Given the description of an element on the screen output the (x, y) to click on. 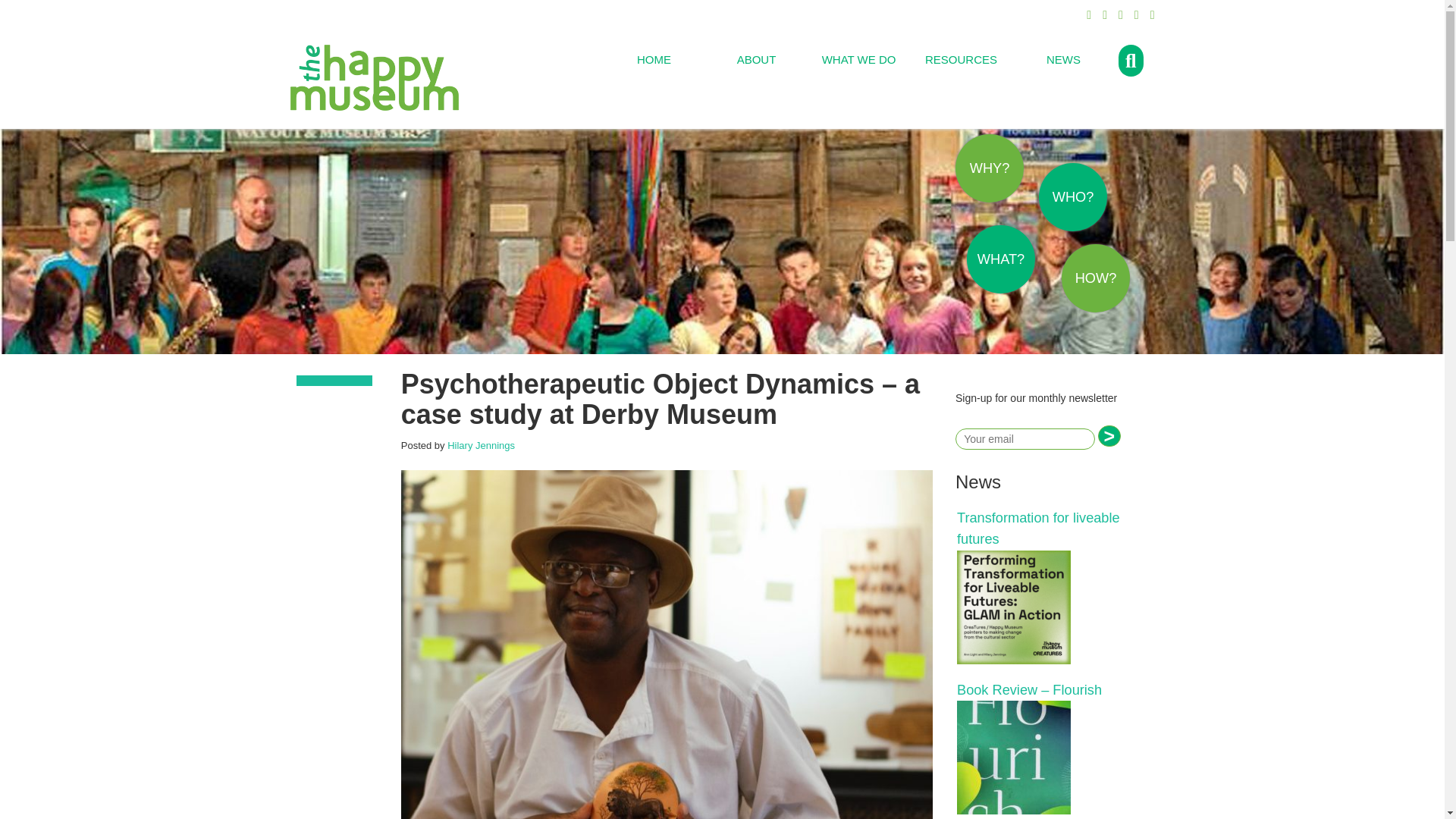
NEWS (1063, 59)
Happy Museum Project (373, 75)
WHAT WE DO (859, 59)
Book Review - Flourish (1048, 757)
Hilary Jennings (480, 445)
RESOURCES (960, 59)
Posts by Hilary Jennings (480, 445)
ABOUT (756, 59)
Transformation for liveable futures (1048, 607)
HOME (653, 59)
